Given the description of an element on the screen output the (x, y) to click on. 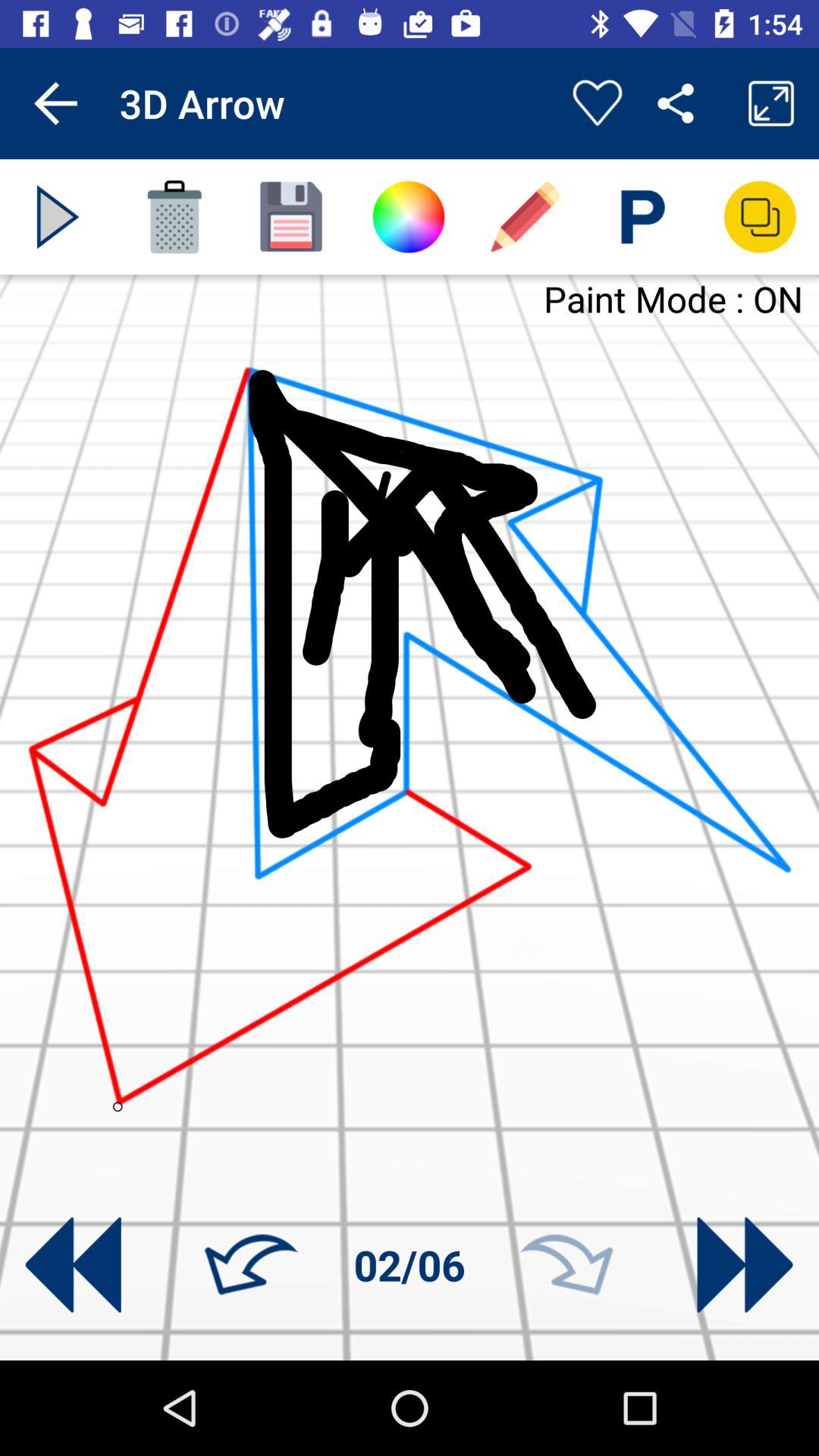
advance (58, 216)
